Given the description of an element on the screen output the (x, y) to click on. 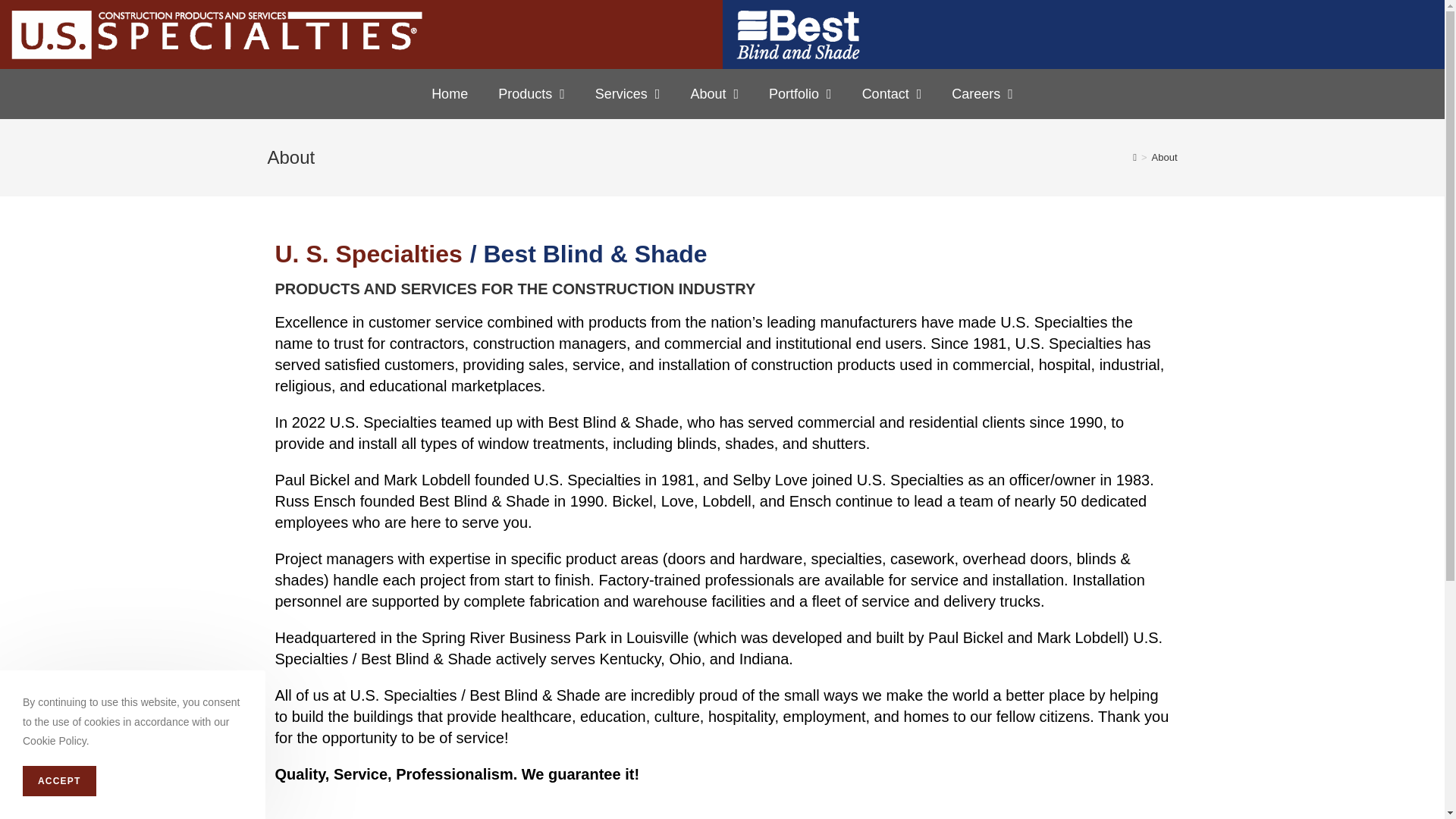
Home (449, 93)
Portfolio (800, 93)
About (714, 93)
Products (531, 93)
Services (627, 93)
Contact (892, 93)
Careers (981, 93)
